Given the description of an element on the screen output the (x, y) to click on. 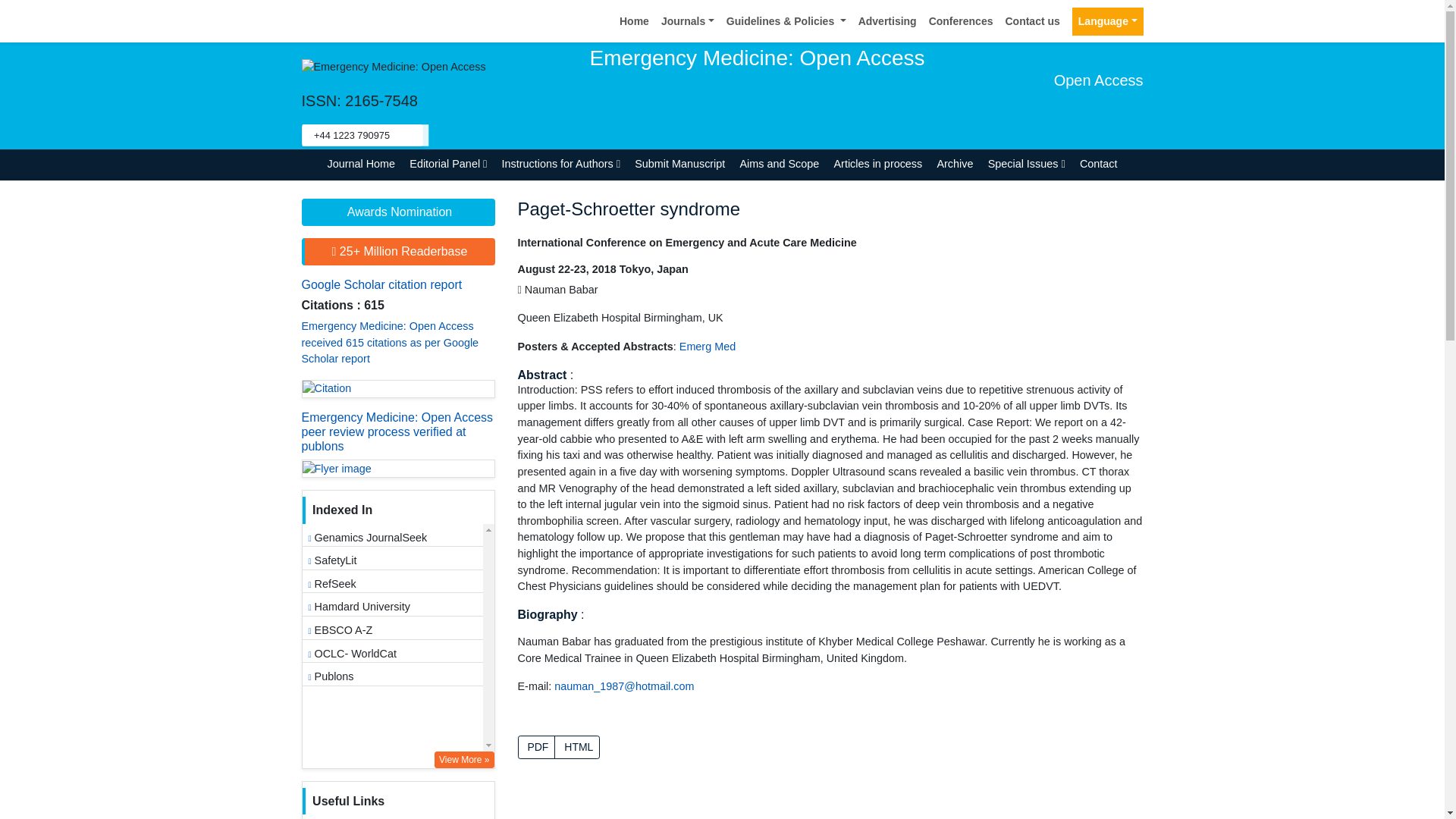
Conferences (960, 21)
Aims and Scope (779, 164)
Instructions for Authors (561, 164)
Editorial Panel (449, 164)
Contact us (1031, 21)
Home (633, 21)
Language (1106, 21)
Articles in process (878, 164)
Submit Manuscript (679, 164)
Journal Home (361, 164)
